Given the description of an element on the screen output the (x, y) to click on. 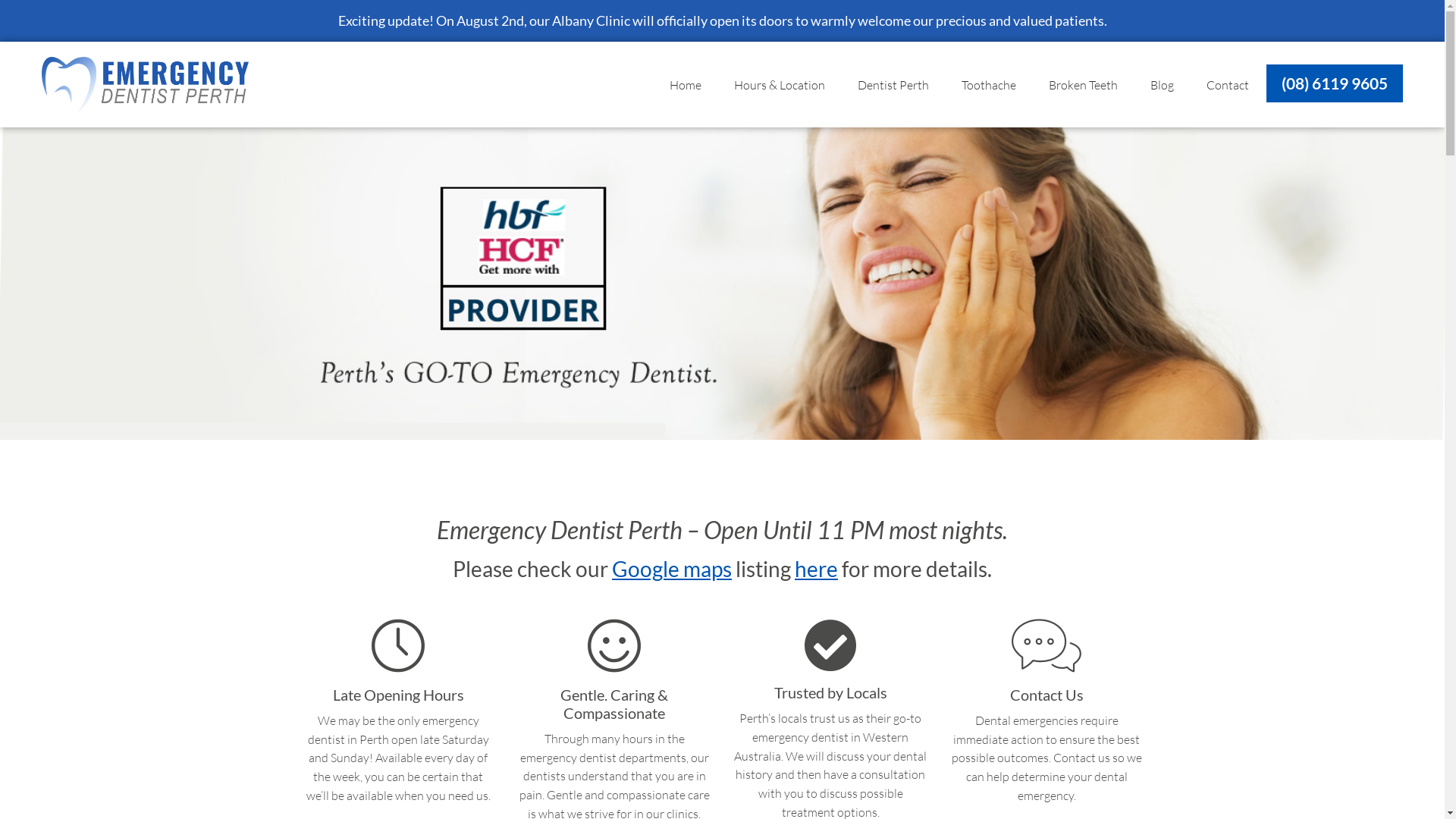
Broken Teeth Element type: text (1082, 84)
Dentist Perth Element type: text (893, 84)
Contact Element type: text (1227, 84)
Toothache Element type: text (988, 84)
Hours & Location Element type: text (779, 84)
Google maps Element type: text (671, 568)
Home Element type: text (685, 84)
Blog Element type: text (1162, 84)
here Element type: text (815, 568)
(08) 6119 9605 Element type: text (1334, 83)
